Given the description of an element on the screen output the (x, y) to click on. 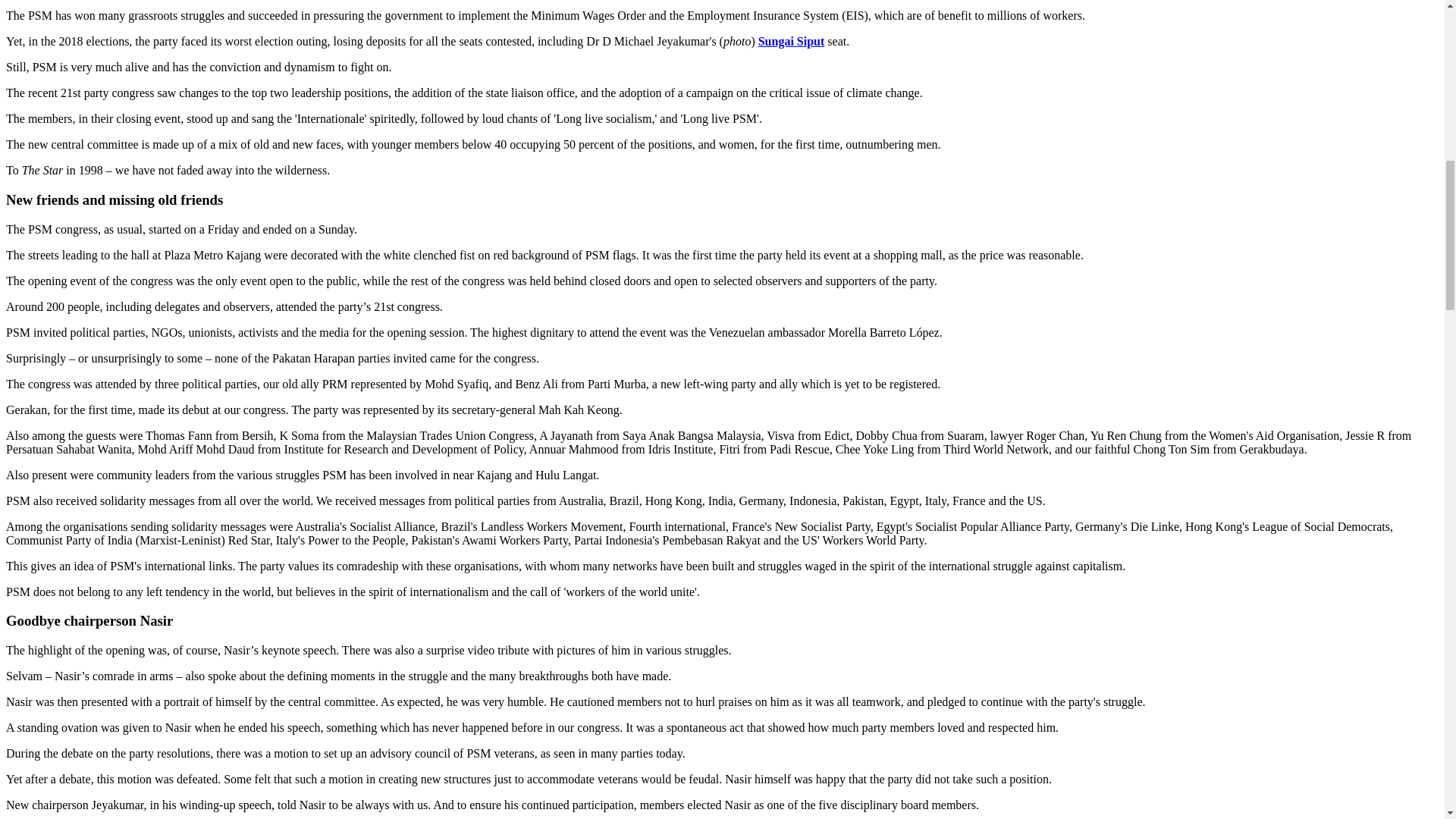
Sungai Siput (791, 41)
